Given the description of an element on the screen output the (x, y) to click on. 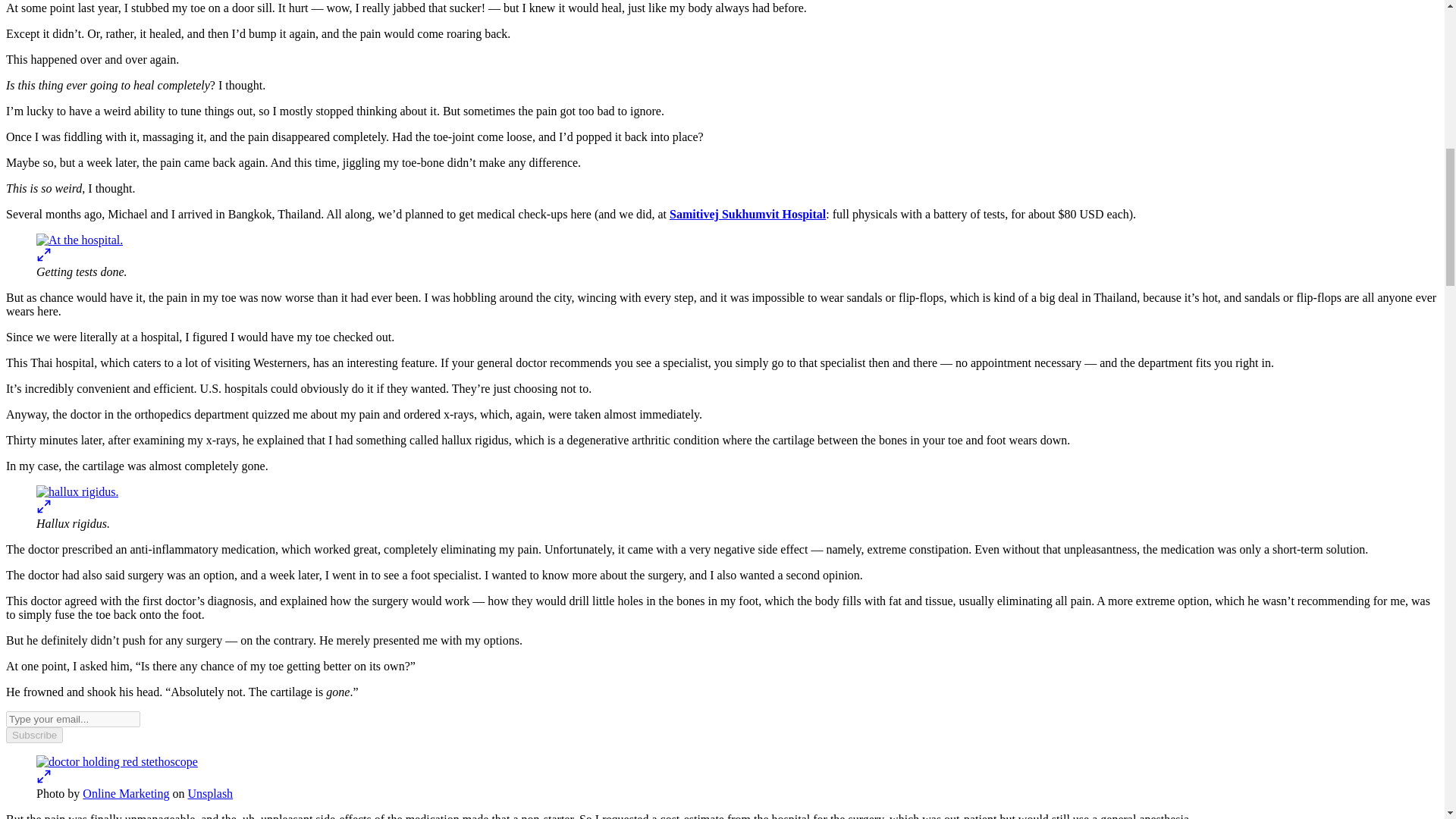
Online Marketing (125, 793)
Subscribe (33, 734)
Samitivej Sukhumvit Hospital (747, 214)
hallux rigidus. (76, 491)
At the hospital. (79, 240)
doctor holding red stethoscope (117, 762)
Unsplash (209, 793)
